Given the description of an element on the screen output the (x, y) to click on. 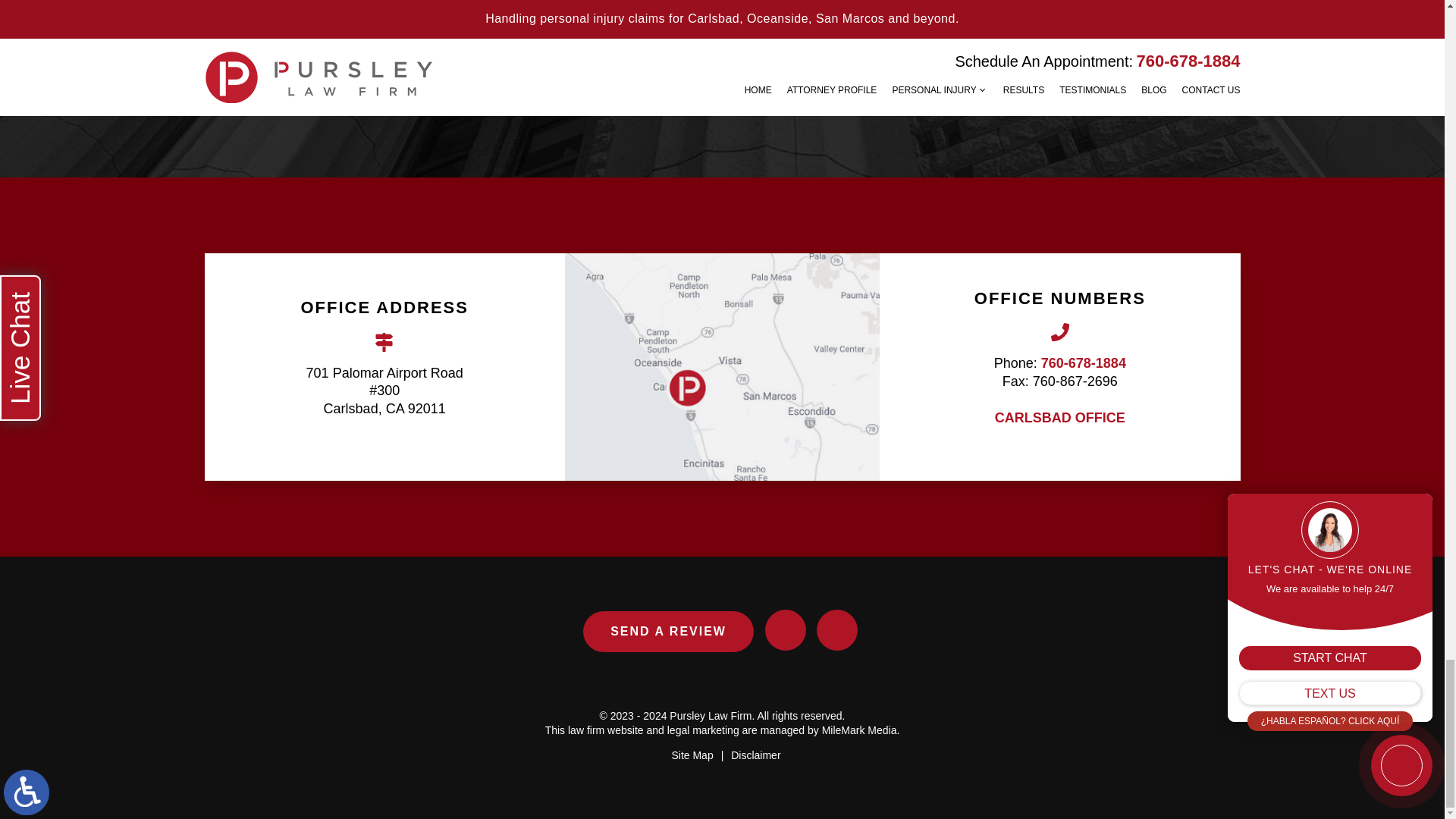
Send A Message (827, 31)
